Given the description of an element on the screen output the (x, y) to click on. 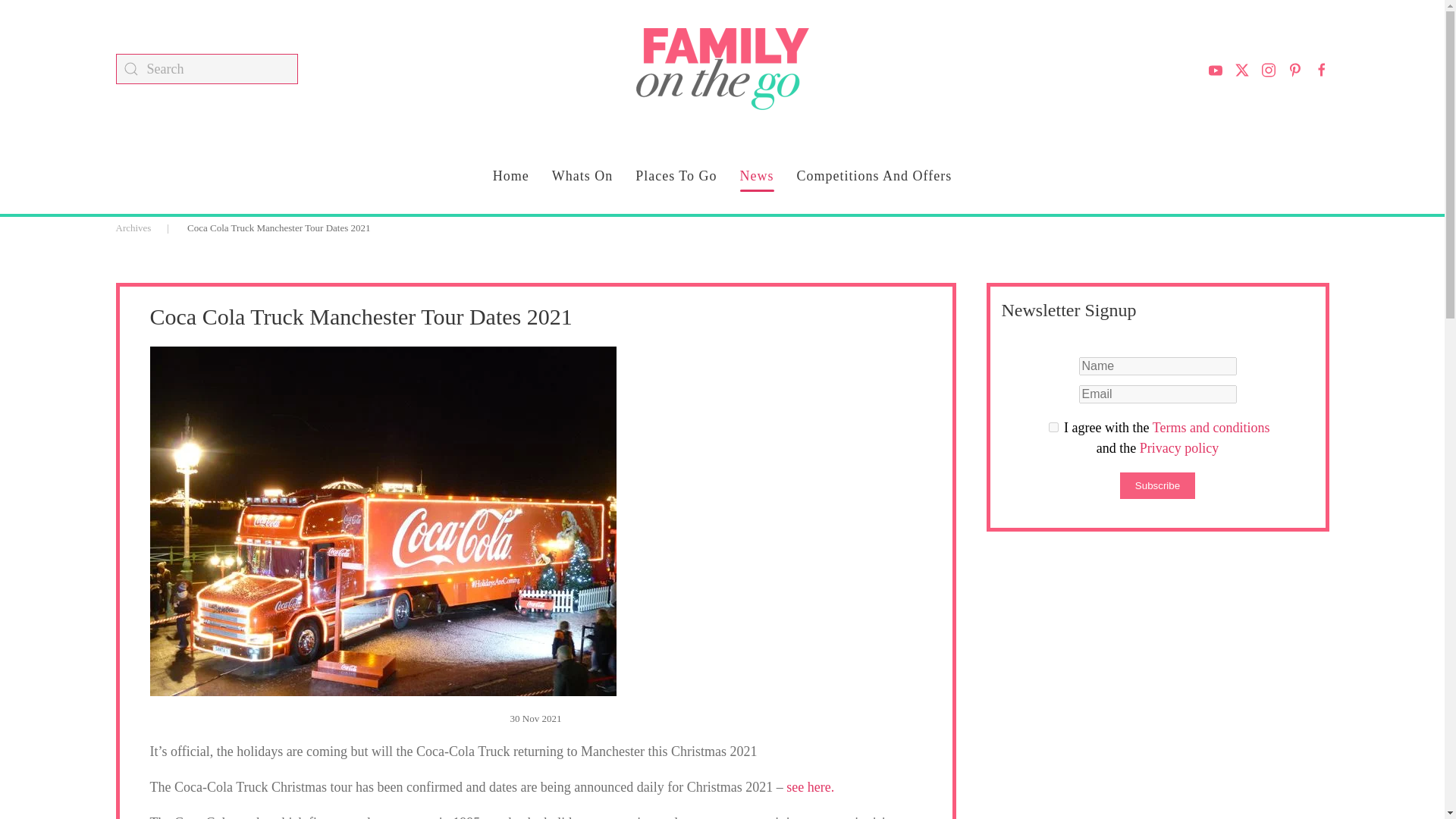
Terms and conditions (1211, 427)
Privacy policy (1179, 447)
on (1053, 427)
Terms and conditions (1053, 427)
Places To Go (675, 175)
